Given the description of an element on the screen output the (x, y) to click on. 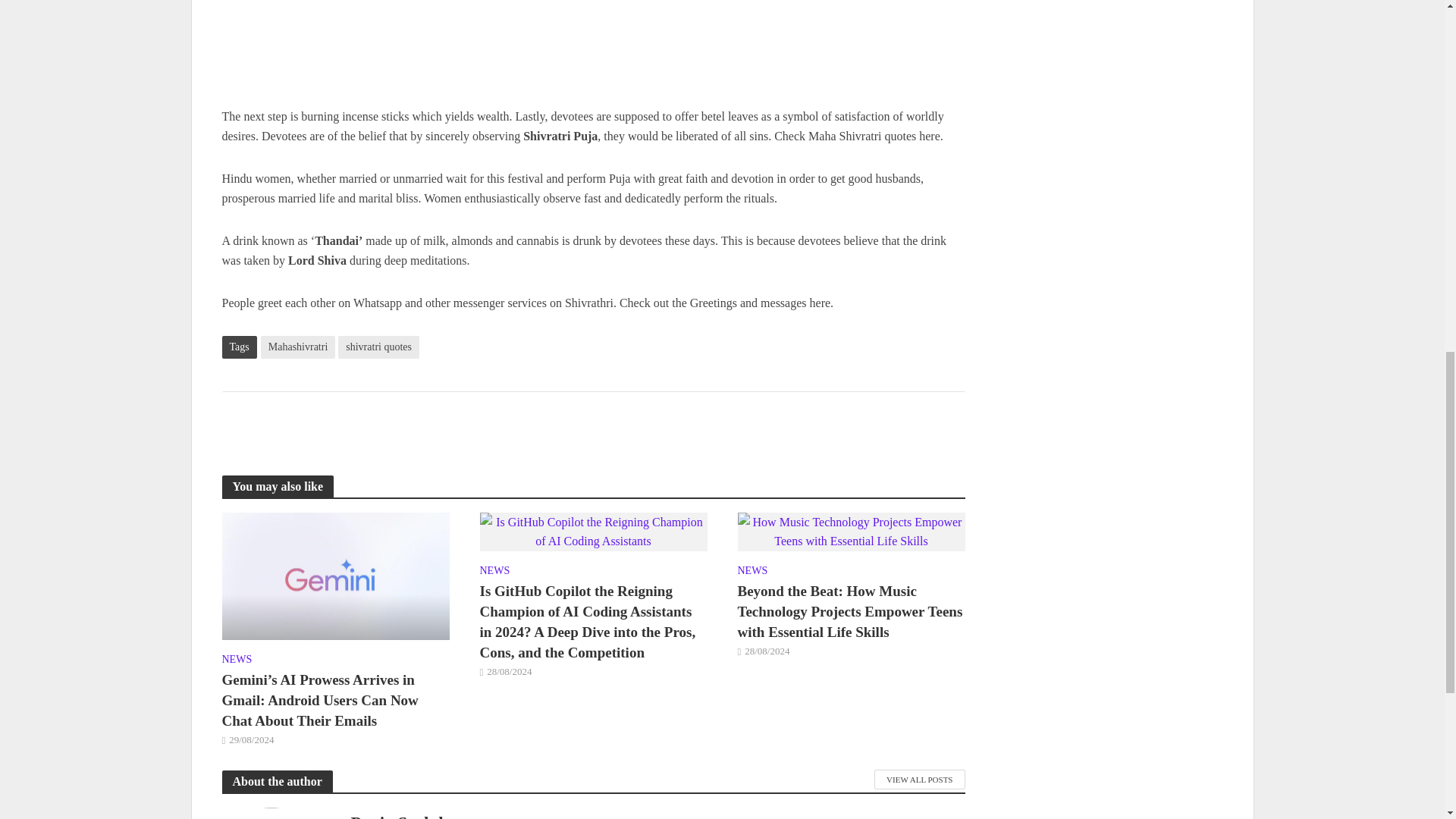
shivratri quotes (378, 346)
NEWS (751, 572)
Mahashivratri (298, 346)
VIEW ALL POSTS (919, 779)
